Given the description of an element on the screen output the (x, y) to click on. 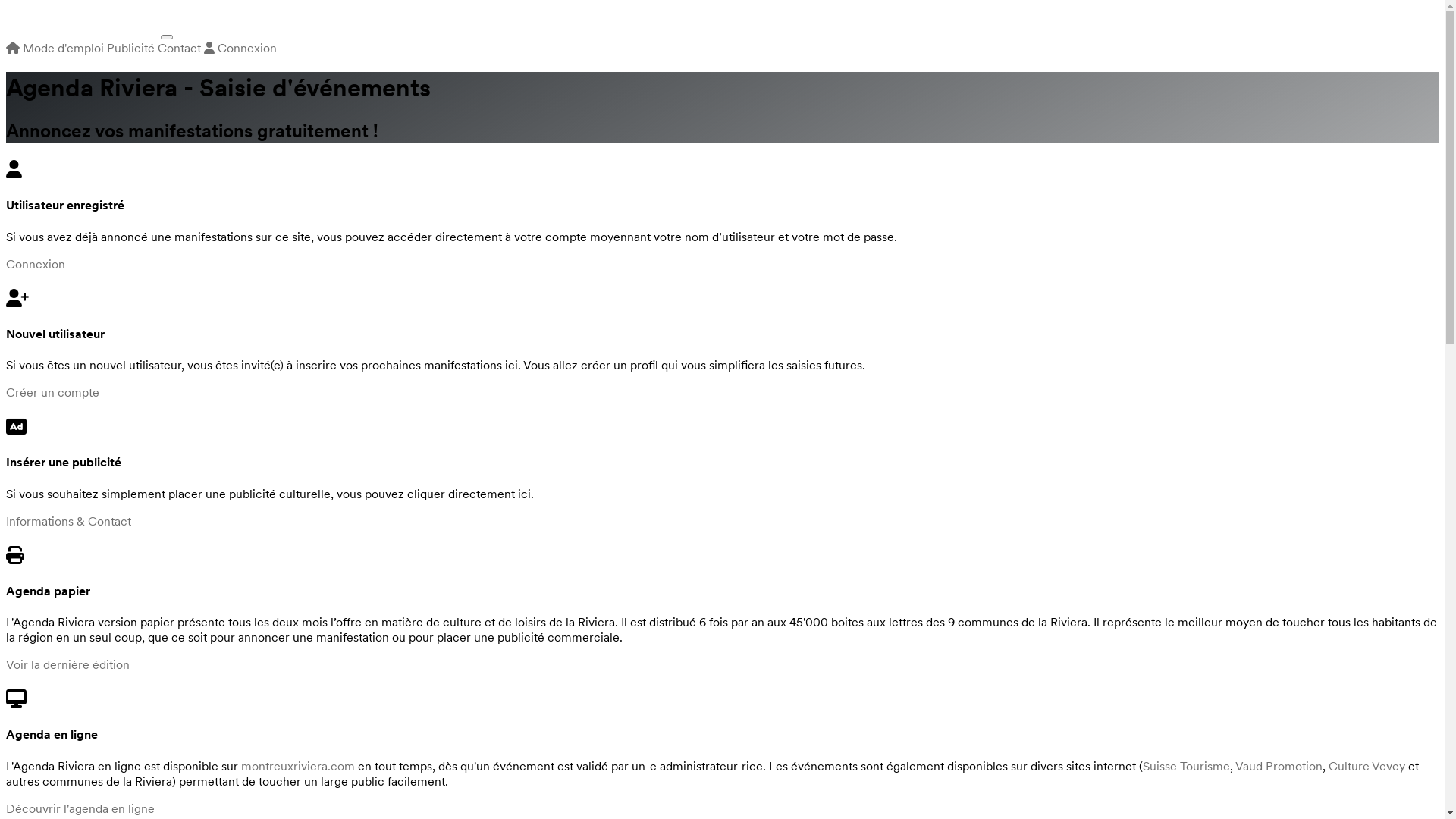
Contact Element type: text (178, 47)
Suisse Tourisme Element type: text (1186, 765)
Connexion Element type: text (239, 47)
Connexion Element type: text (35, 263)
Mode d'emploi Element type: text (62, 47)
Vaud Promotion Element type: text (1278, 765)
Informations & Contact Element type: text (68, 520)
montreuxriviera.com Element type: text (297, 765)
Culture Vevey Element type: text (1366, 765)
